Given the description of an element on the screen output the (x, y) to click on. 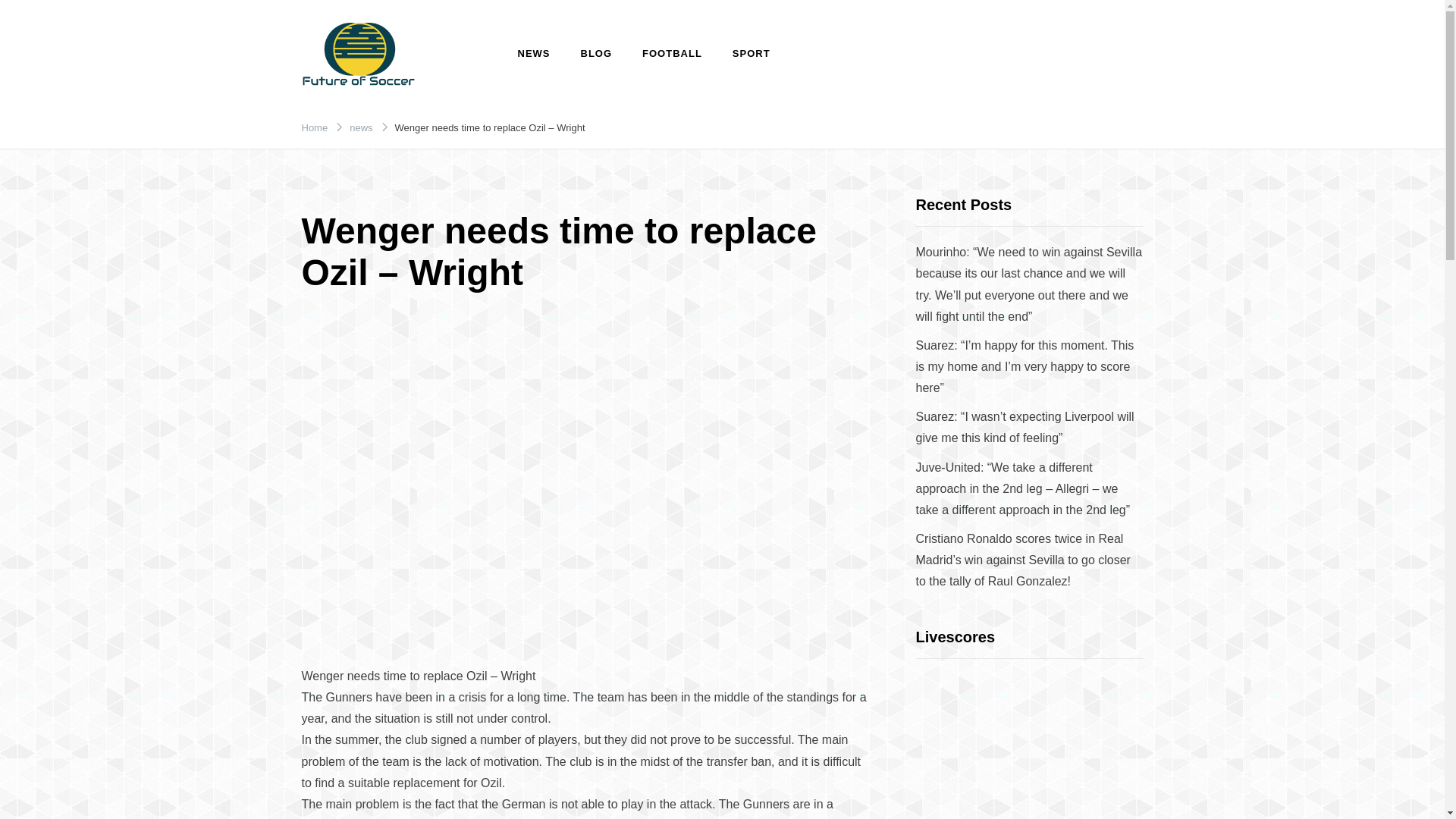
Home (315, 127)
cheap-poster.com (365, 116)
SPORT (751, 53)
FOOTBALL (672, 53)
news (360, 127)
BLOG (596, 53)
